Given the description of an element on the screen output the (x, y) to click on. 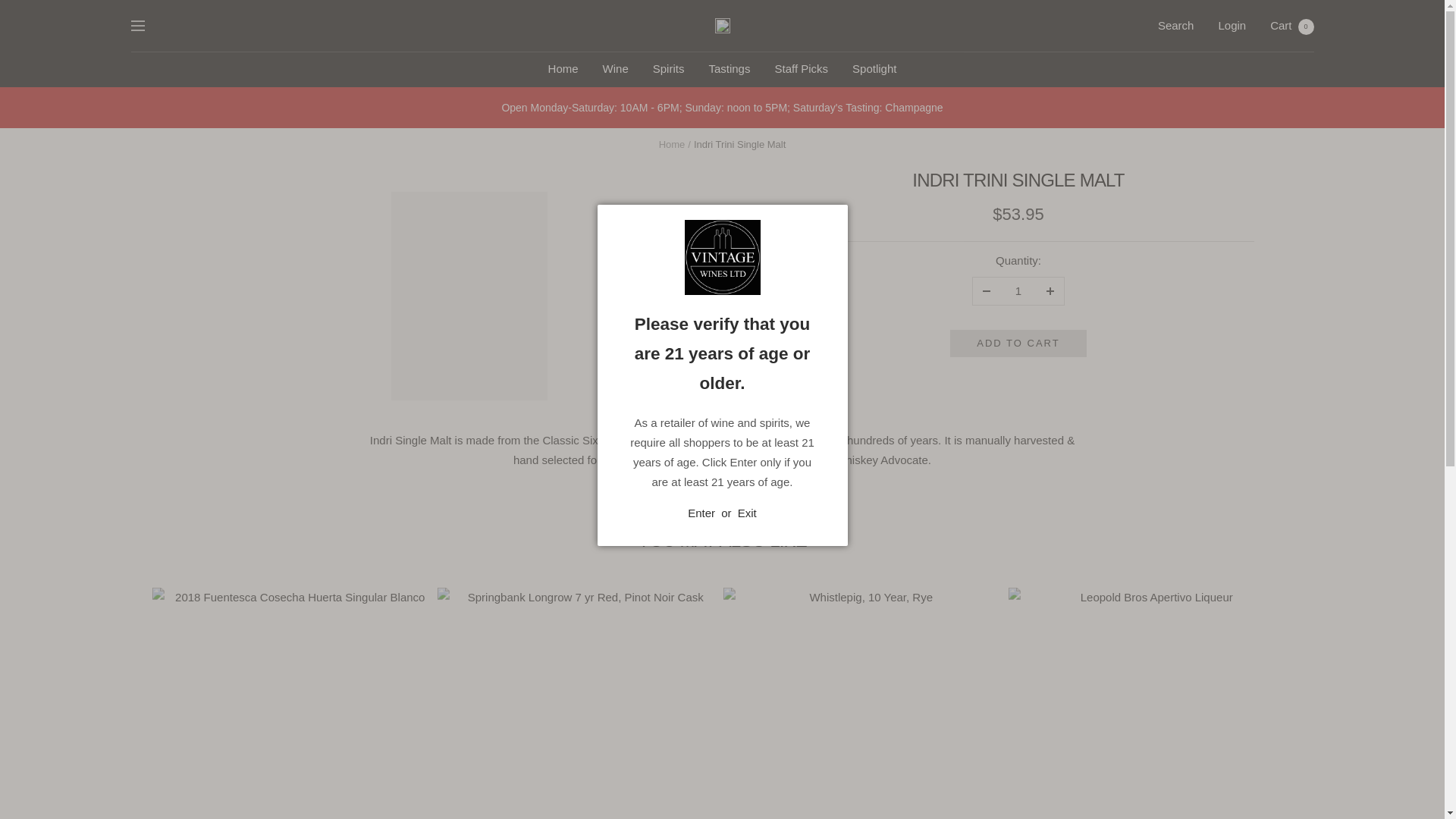
Wine (615, 68)
Exit (747, 512)
Increase quantity (1050, 290)
Zoom (671, 374)
Tastings (728, 68)
1 (1291, 24)
Spotlight (1018, 290)
ADD TO CART (873, 68)
Home (1018, 343)
